Given the description of an element on the screen output the (x, y) to click on. 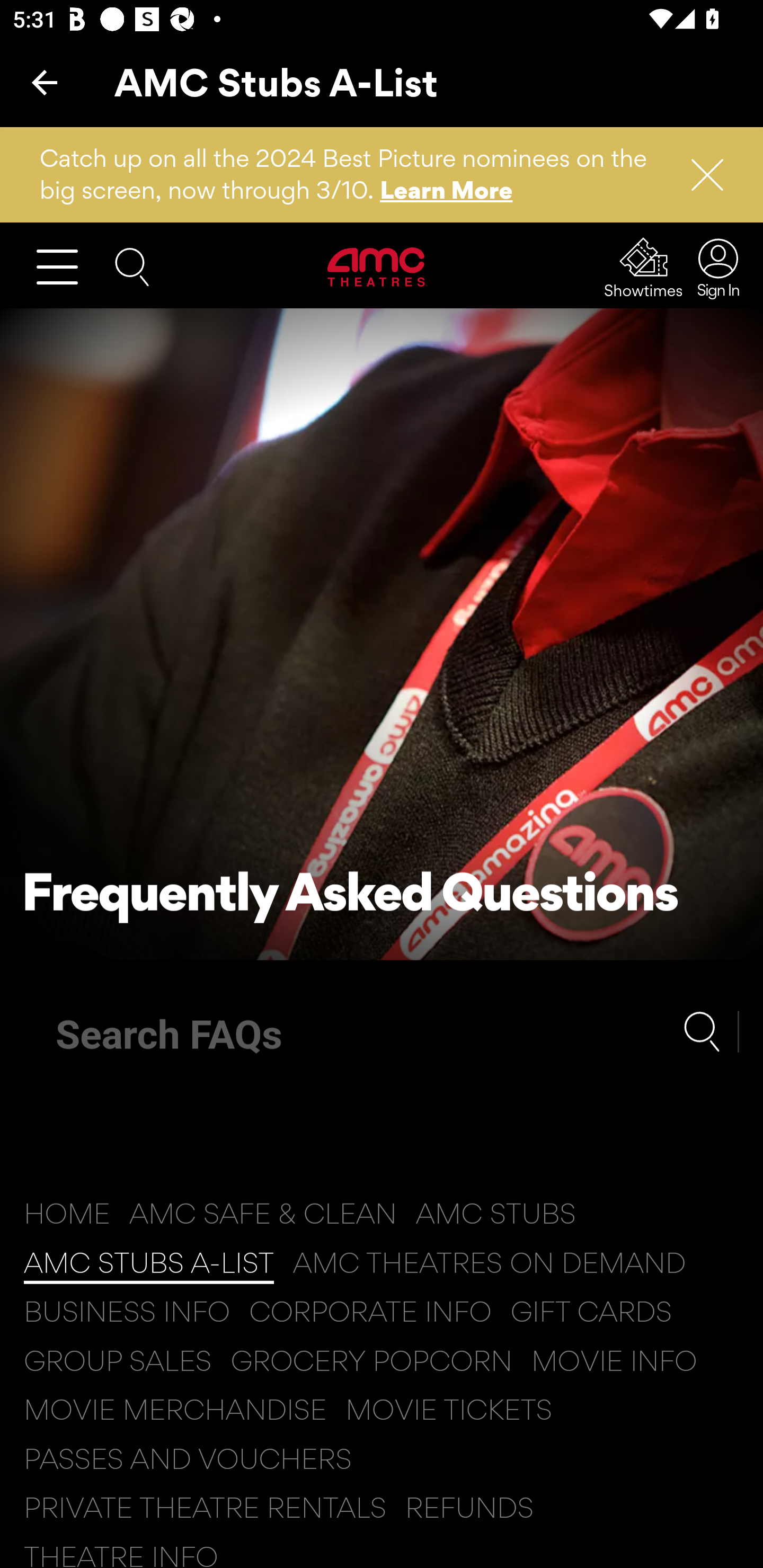
Back (44, 82)
Dismiss Notification (699, 174)
Learn More (446, 189)
Open Menu (64, 266)
Showtimes Showtimes Showtimes (643, 267)
Sign In (713, 267)
Search the AMC website (131, 265)
Visit Home Page AMC Theatres Logo (377, 266)
Submit Search Button (710, 1030)
